Given the description of an element on the screen output the (x, y) to click on. 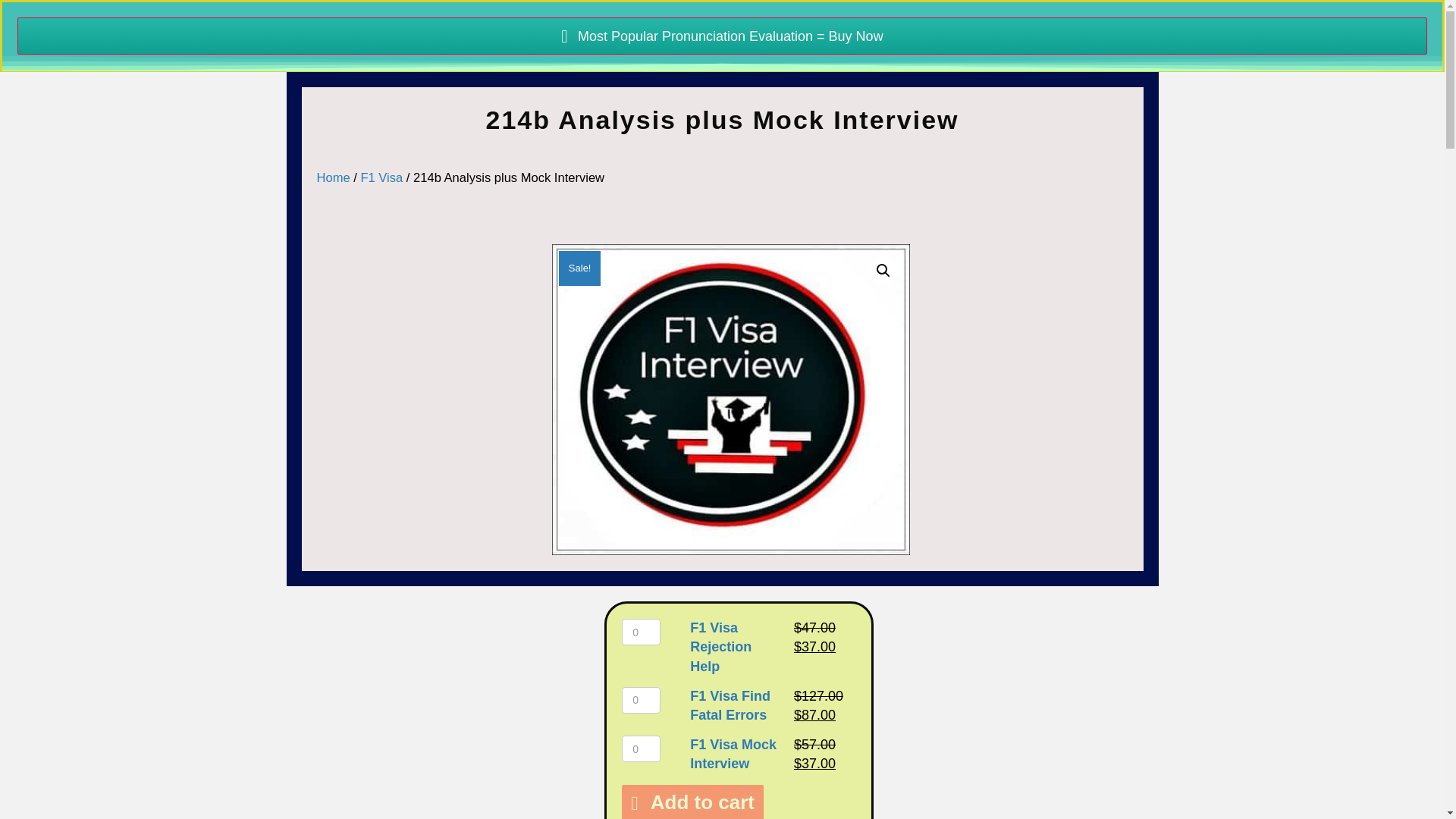
F1 Visa Find Fatal Errors (730, 705)
F1 Visa (381, 177)
Add to cart (691, 801)
Home (333, 177)
f1 visa interview logo (731, 399)
F1 Visa Rejection Help (720, 646)
F1 Visa Mock Interview (733, 754)
